Given the description of an element on the screen output the (x, y) to click on. 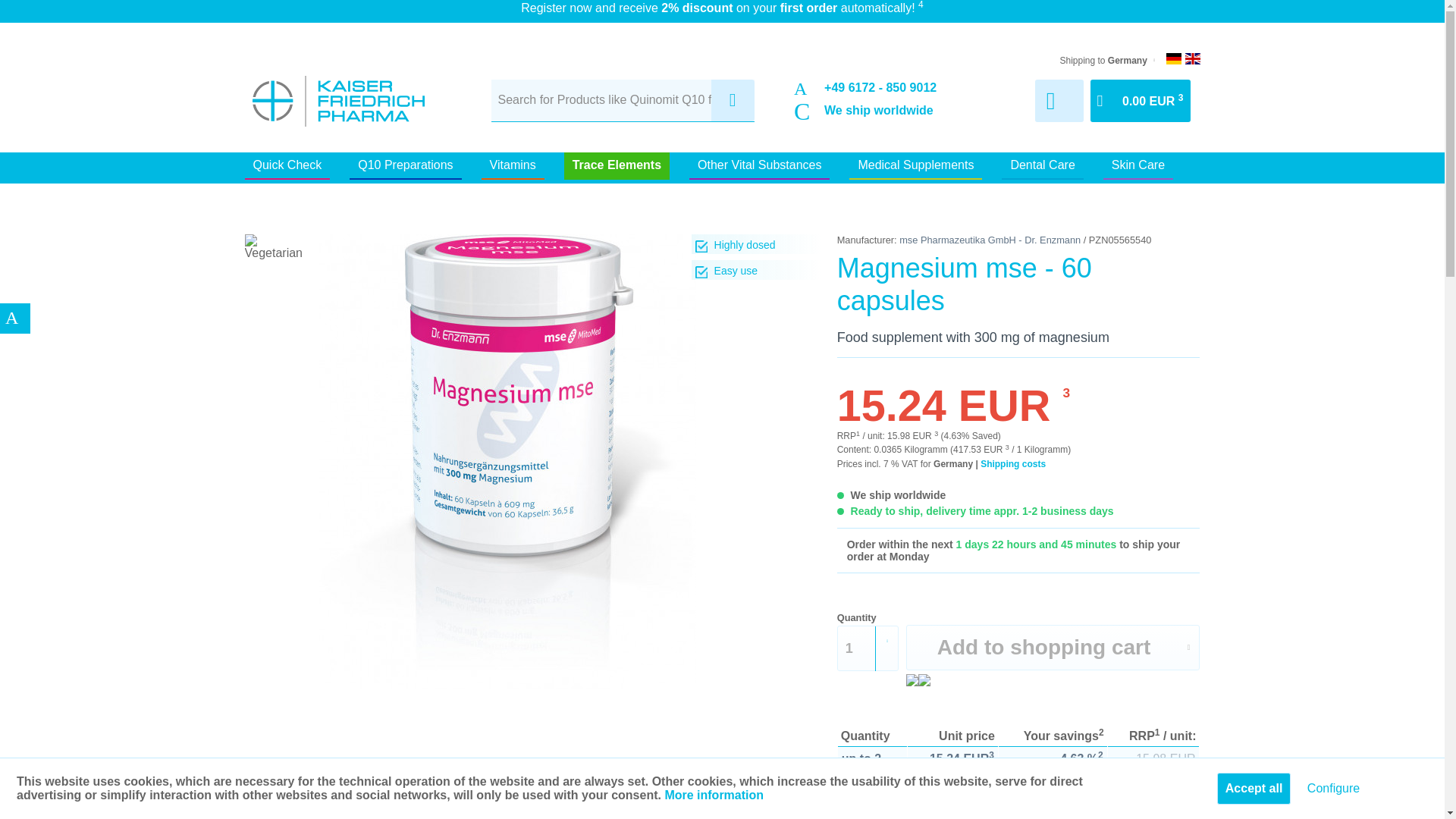
Other Vital Substances (758, 165)
Vitamins (512, 165)
Trace Elements (616, 165)
English (1192, 59)
Q10 Preparations (405, 165)
Dental Care (1042, 165)
Deutsch (1173, 59)
Quick Check (287, 165)
Medical Supplements (914, 165)
Skin Care (1138, 165)
